Given the description of an element on the screen output the (x, y) to click on. 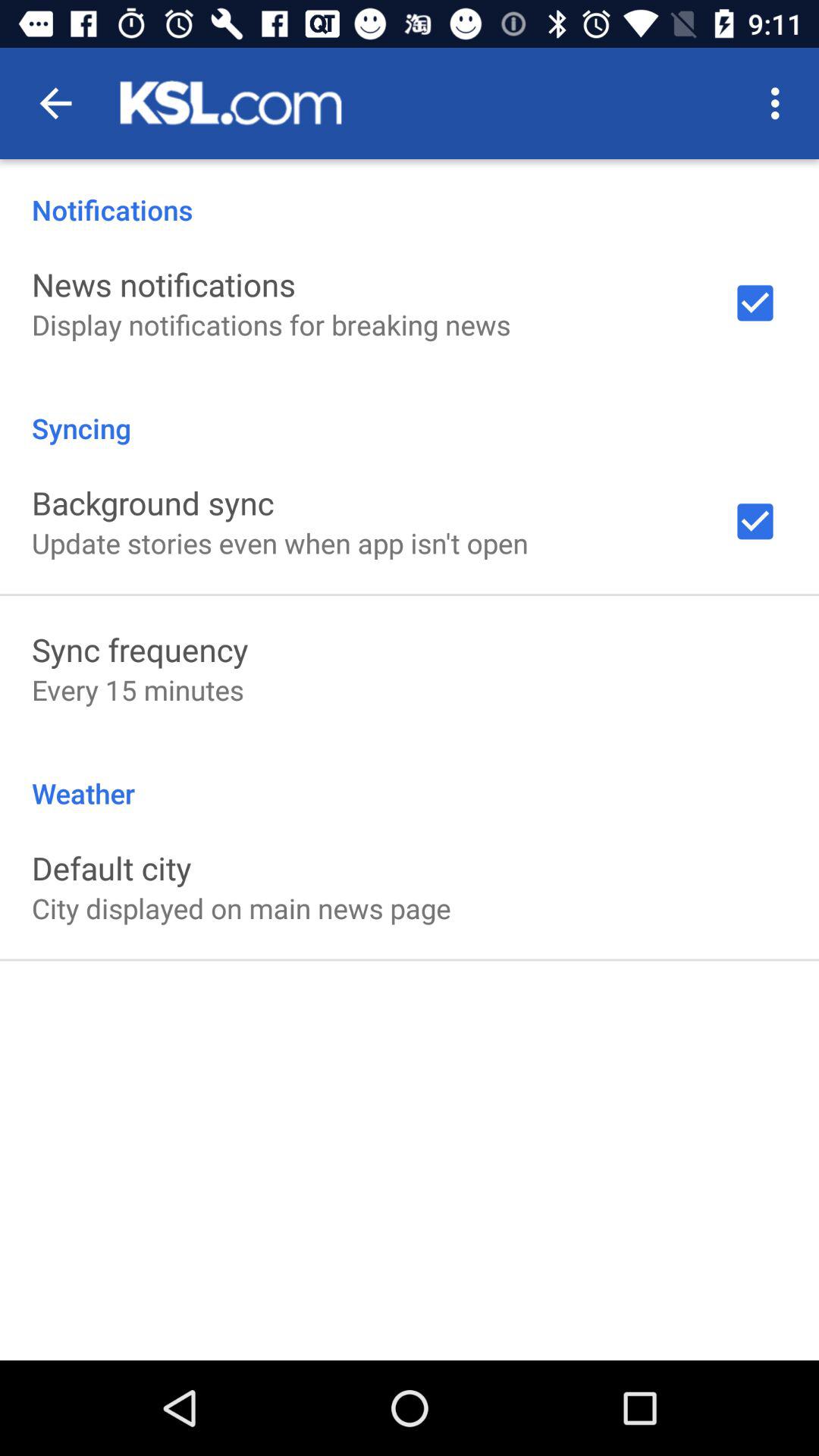
press the app above the notifications (779, 103)
